Given the description of an element on the screen output the (x, y) to click on. 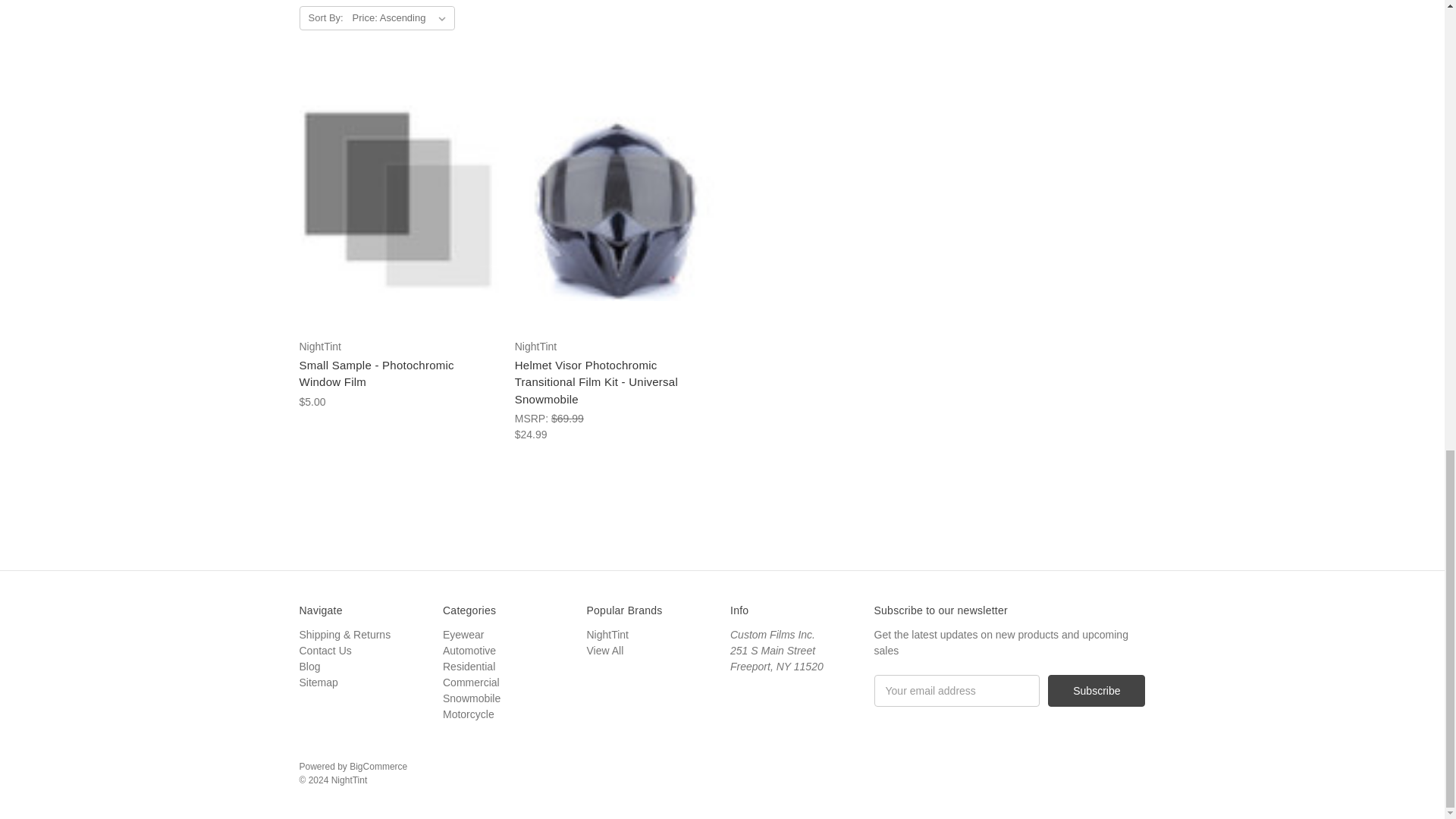
Blog (309, 666)
Small Sample - Photochromic Window Film (397, 198)
NightTint (607, 634)
Commercial (470, 682)
View All (605, 650)
Residential (468, 666)
Sitemap (317, 682)
Automotive (469, 650)
Contact Us (324, 650)
